Given the description of an element on the screen output the (x, y) to click on. 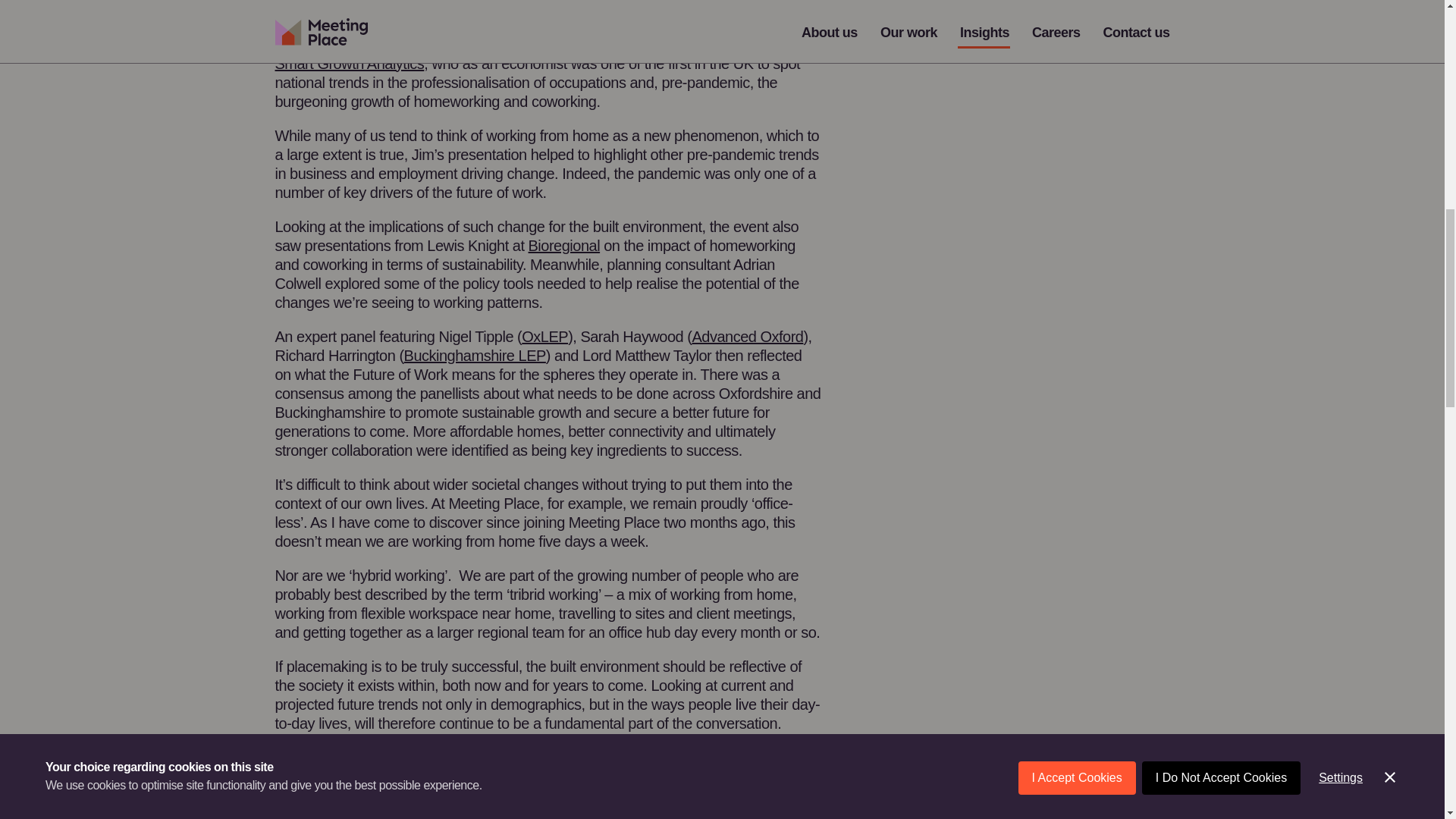
OxLEP (544, 336)
Buckinghamshire LEP (475, 355)
Advanced Oxford (747, 336)
I Accept Cookies (1076, 37)
Bioregional (563, 245)
Smart Growth Analytics (349, 63)
Bee House (597, 10)
Settings (1340, 12)
I Do Not Accept Cookies (1220, 24)
Milton Park (364, 10)
